Given the description of an element on the screen output the (x, y) to click on. 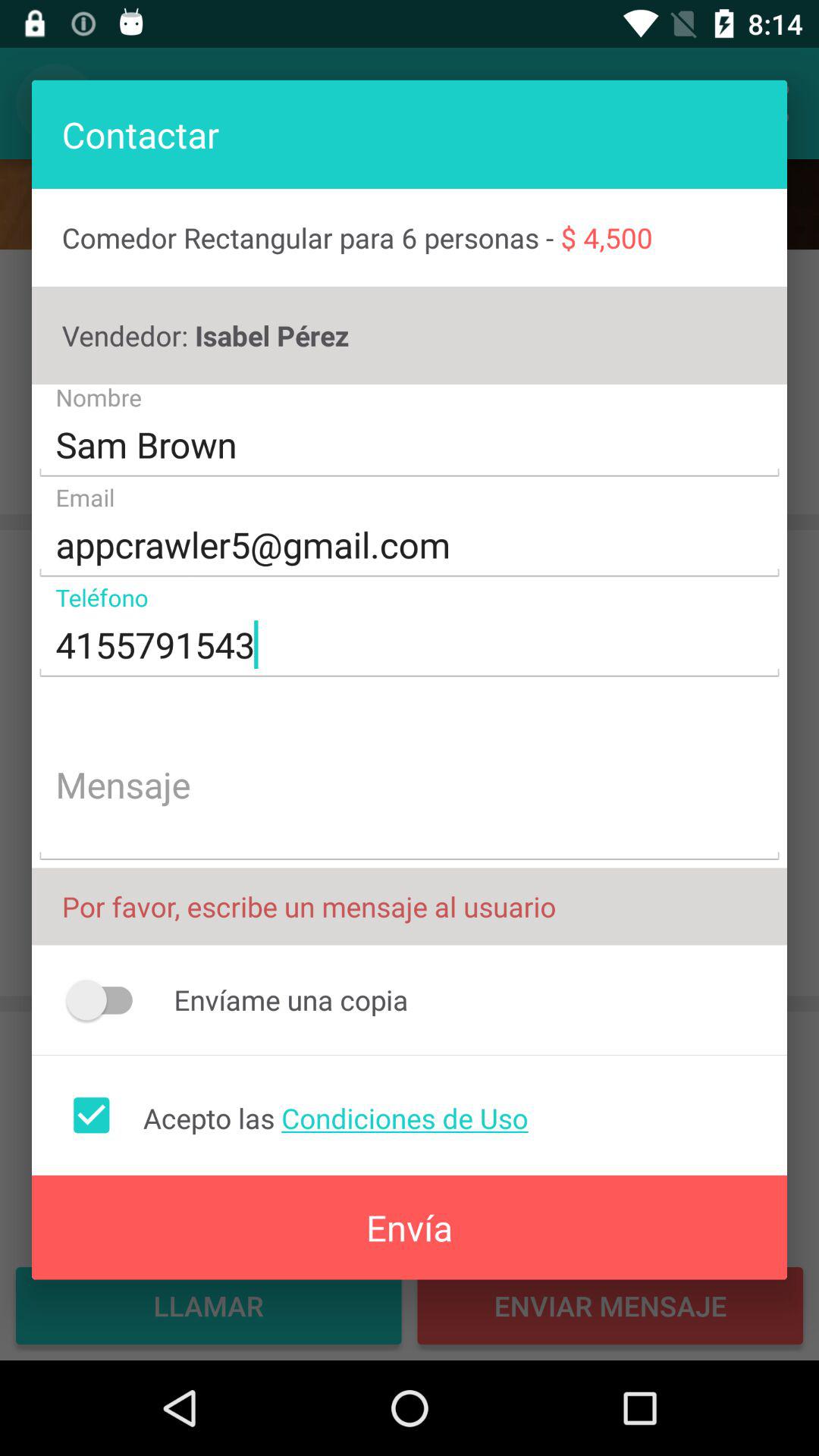
turn on the item above the por favor escribe icon (409, 786)
